Given the description of an element on the screen output the (x, y) to click on. 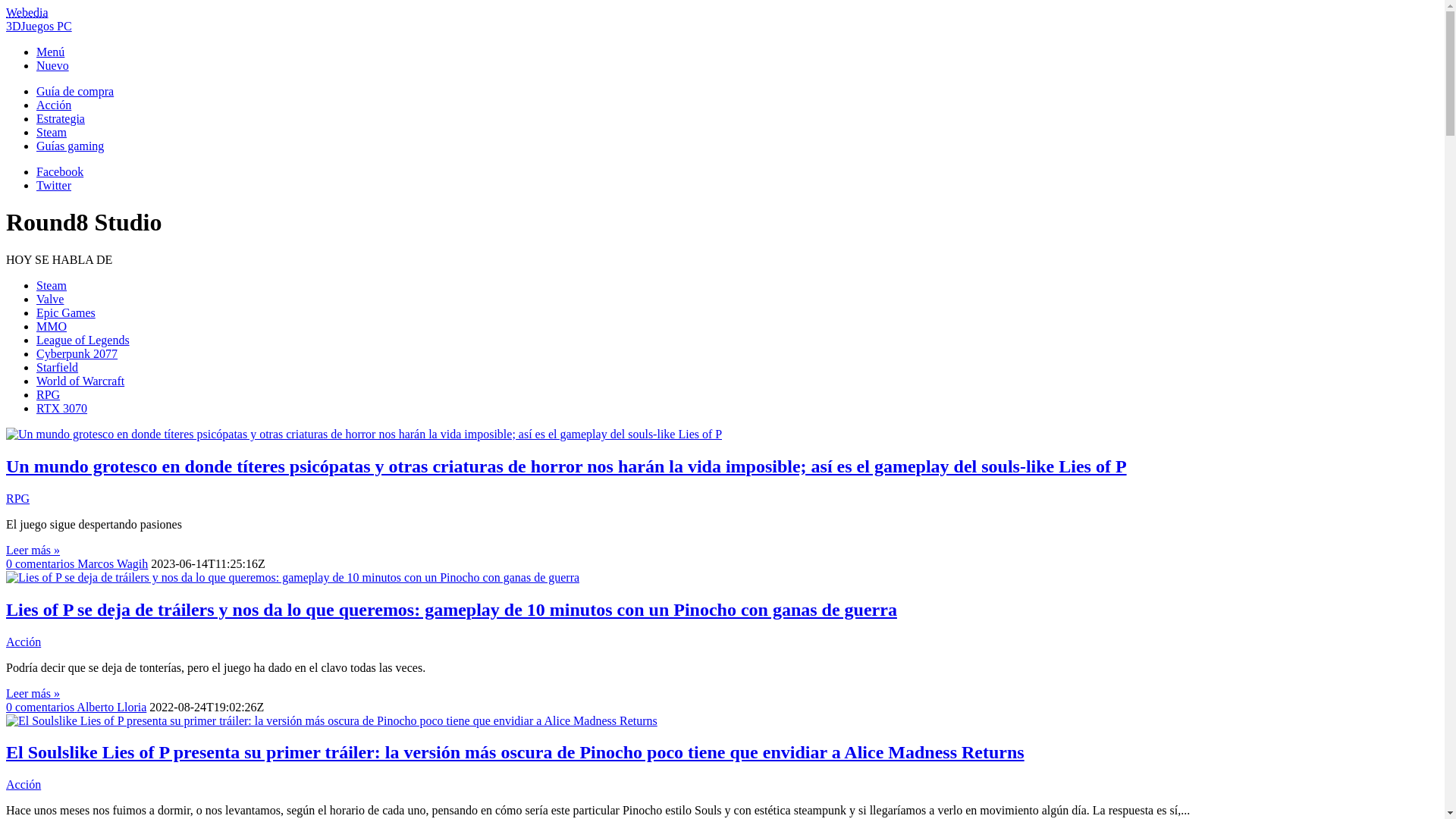
3DJuegos PC Element type: text (39, 25)
0 comentarios Element type: text (41, 563)
Estrategia Element type: text (60, 118)
Webedia Element type: text (27, 12)
League of Legends Element type: text (82, 339)
Twitter Element type: text (53, 184)
0 comentarios Element type: text (41, 706)
World of Warcraft Element type: text (80, 380)
MMO Element type: text (51, 326)
RPG Element type: text (17, 498)
RPG Element type: text (47, 394)
Nuevo Element type: text (52, 65)
RTX 3070 Element type: text (61, 407)
Marcos Wagih Element type: text (112, 563)
Starfield Element type: text (57, 366)
Steam Element type: text (51, 131)
Steam Element type: text (51, 285)
Facebook Element type: text (59, 171)
Cyberpunk 2077 Element type: text (76, 353)
Alberto Lloria Element type: text (111, 706)
Valve Element type: text (49, 298)
Epic Games Element type: text (65, 312)
